Given the description of an element on the screen output the (x, y) to click on. 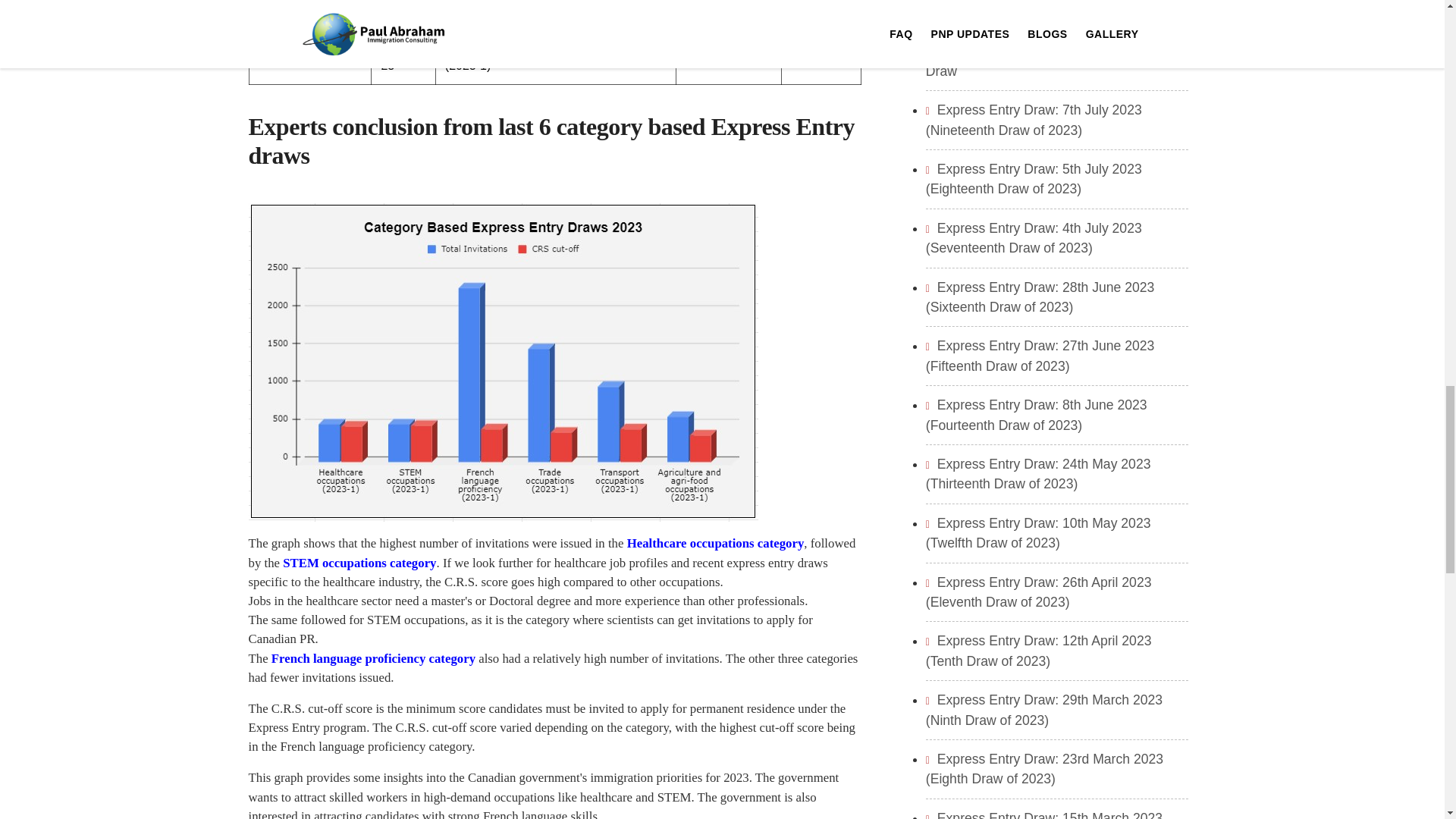
Express Entry for Healthcare (716, 543)
Express Entry for STEM Occupation (358, 563)
Healthcare occupations category (716, 543)
STEM occupations category (358, 563)
French language proficiency category (373, 657)
Express Emtry for French Language (373, 657)
